Given the description of an element on the screen output the (x, y) to click on. 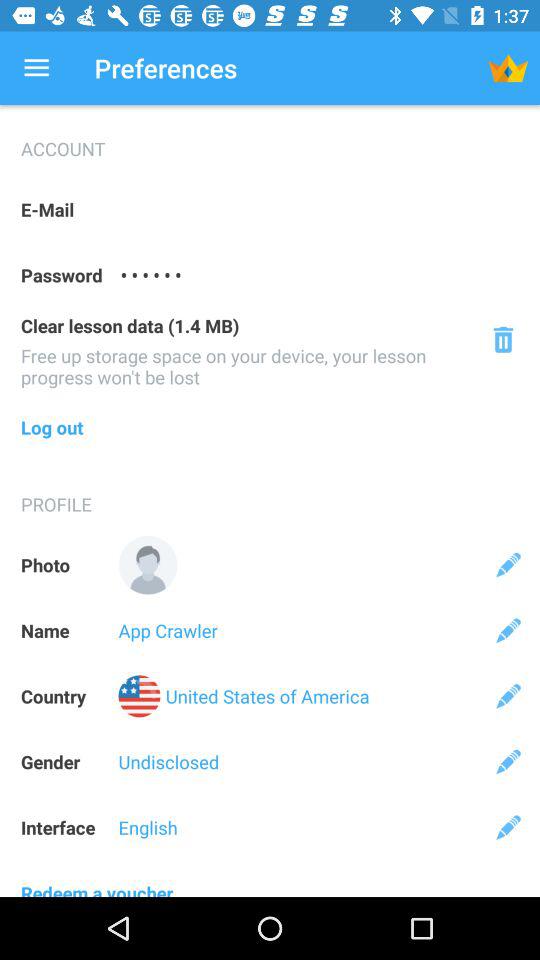
choose app next to the preferences (36, 68)
